Given the description of an element on the screen output the (x, y) to click on. 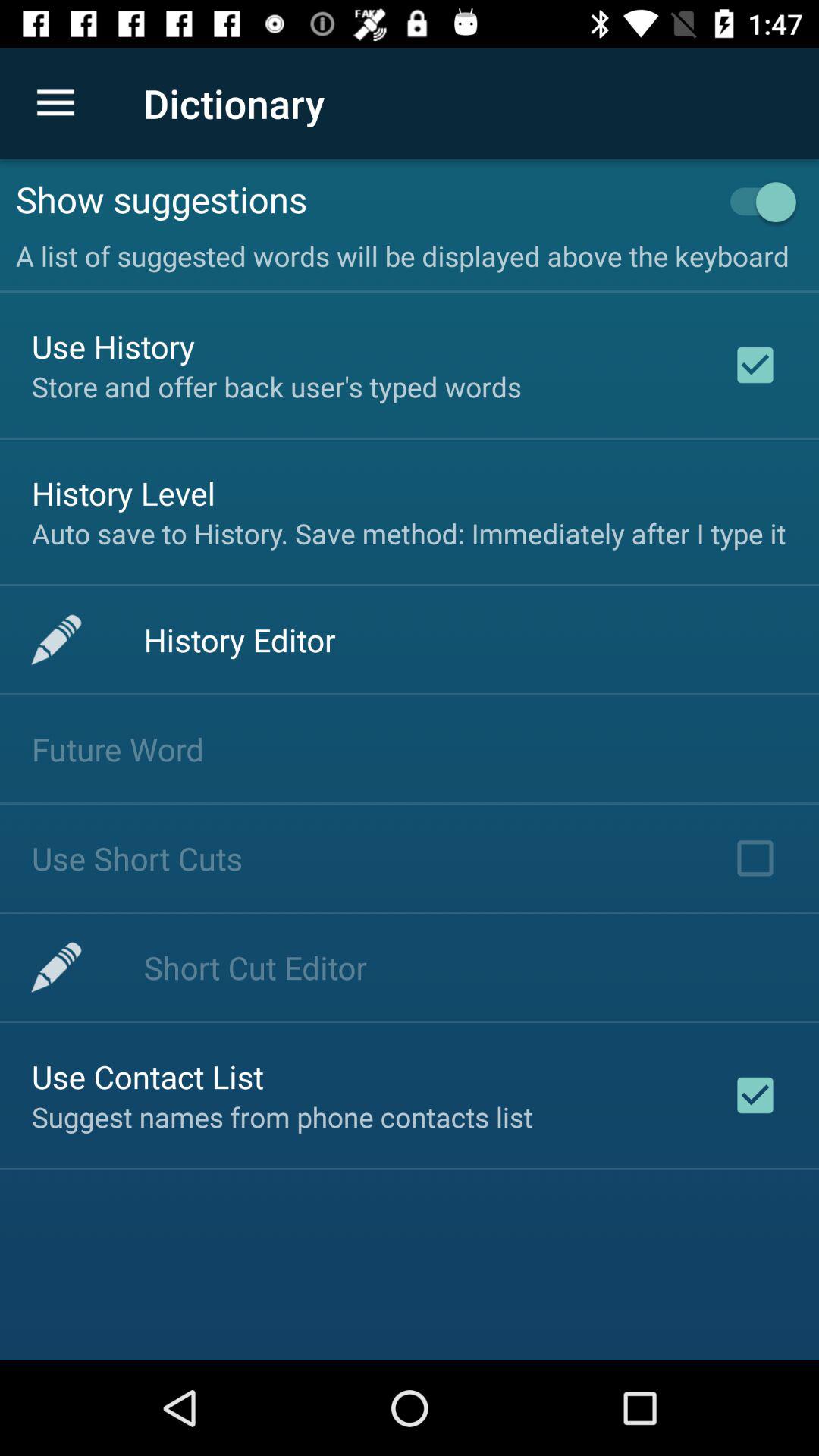
click the icon above the a list of item (755, 202)
